Given the description of an element on the screen output the (x, y) to click on. 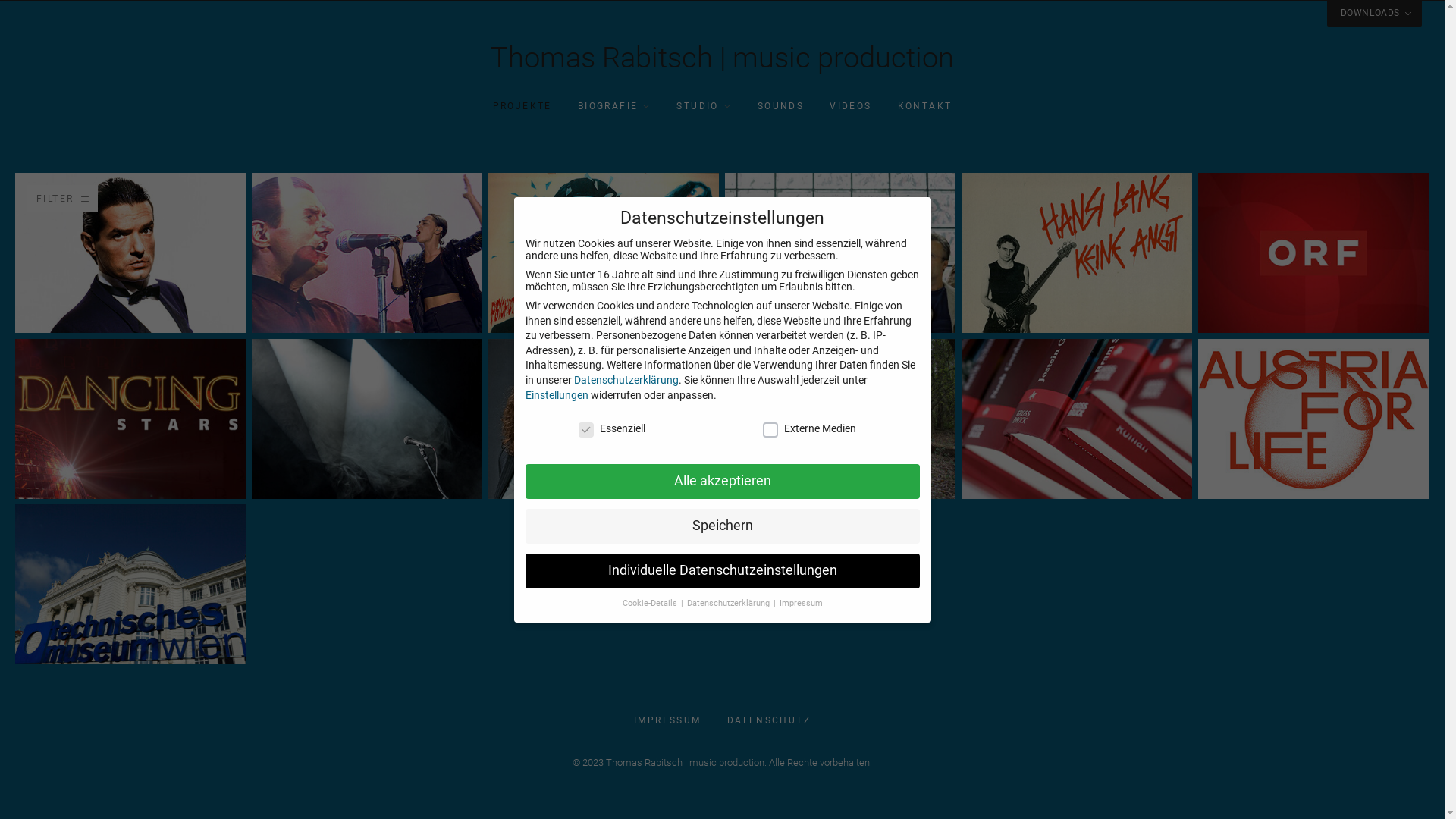
IMPRESSUM Element type: text (667, 720)
STUDIO Element type: text (703, 105)
Cookie-Details Element type: text (649, 603)
Individuelle Datenschutzeinstellungen Element type: text (721, 570)
DATENSCHUTZ Element type: text (768, 720)
BIOGRAFIE Element type: text (614, 105)
Speichern Element type: text (721, 525)
Thomas Rabitsch | music production Element type: text (721, 63)
Einstellungen Element type: text (555, 395)
SOUNDS Element type: text (780, 105)
Alle akzeptieren Element type: text (721, 481)
VIDEOS Element type: text (850, 105)
KONTAKT Element type: text (924, 105)
PROJEKTE Element type: text (522, 105)
Impressum Element type: text (800, 603)
FILTER Element type: text (62, 198)
